Given the description of an element on the screen output the (x, y) to click on. 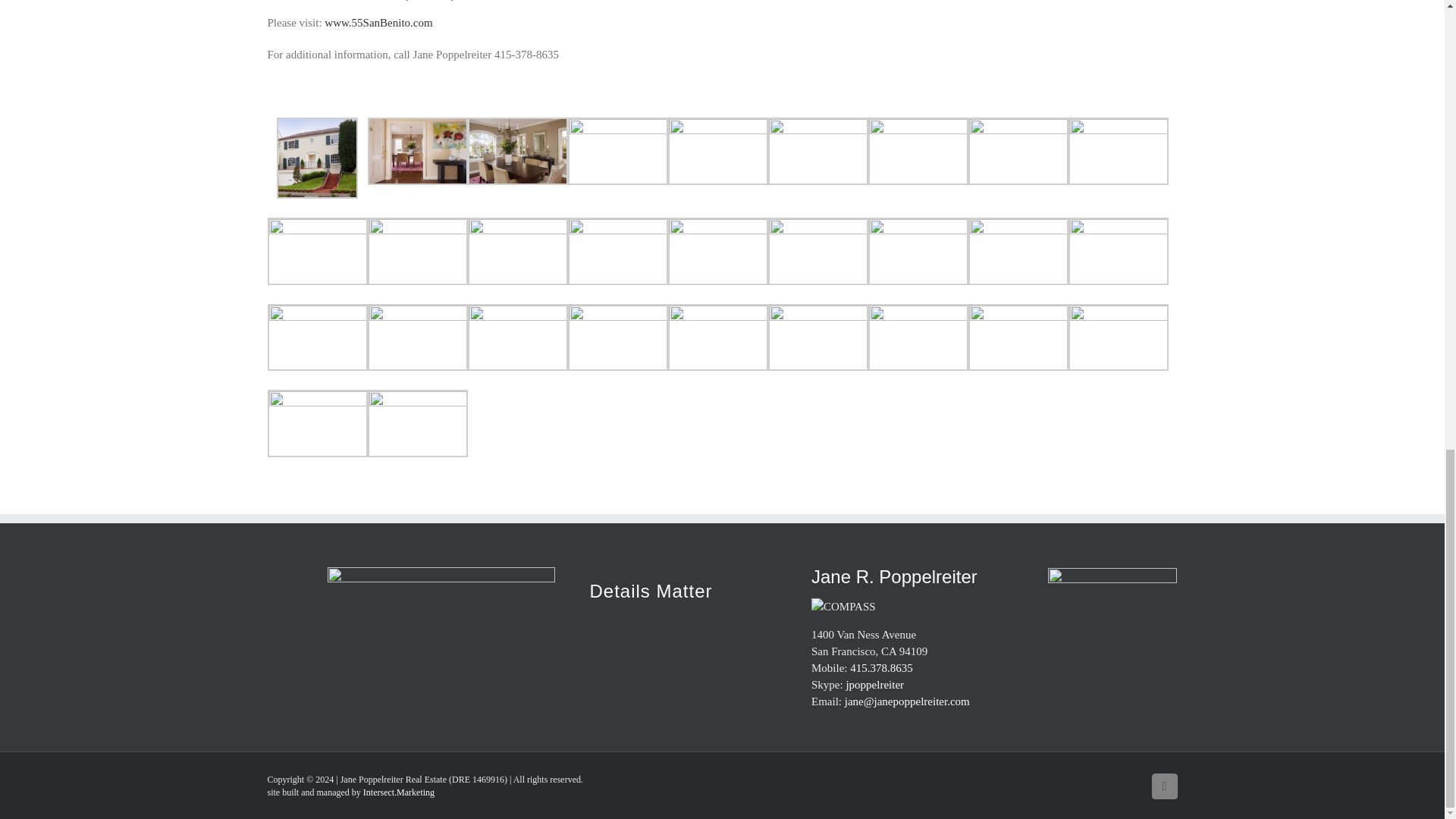
LinkedIn (1163, 786)
www.55SanBenito.com (378, 22)
